Given the description of an element on the screen output the (x, y) to click on. 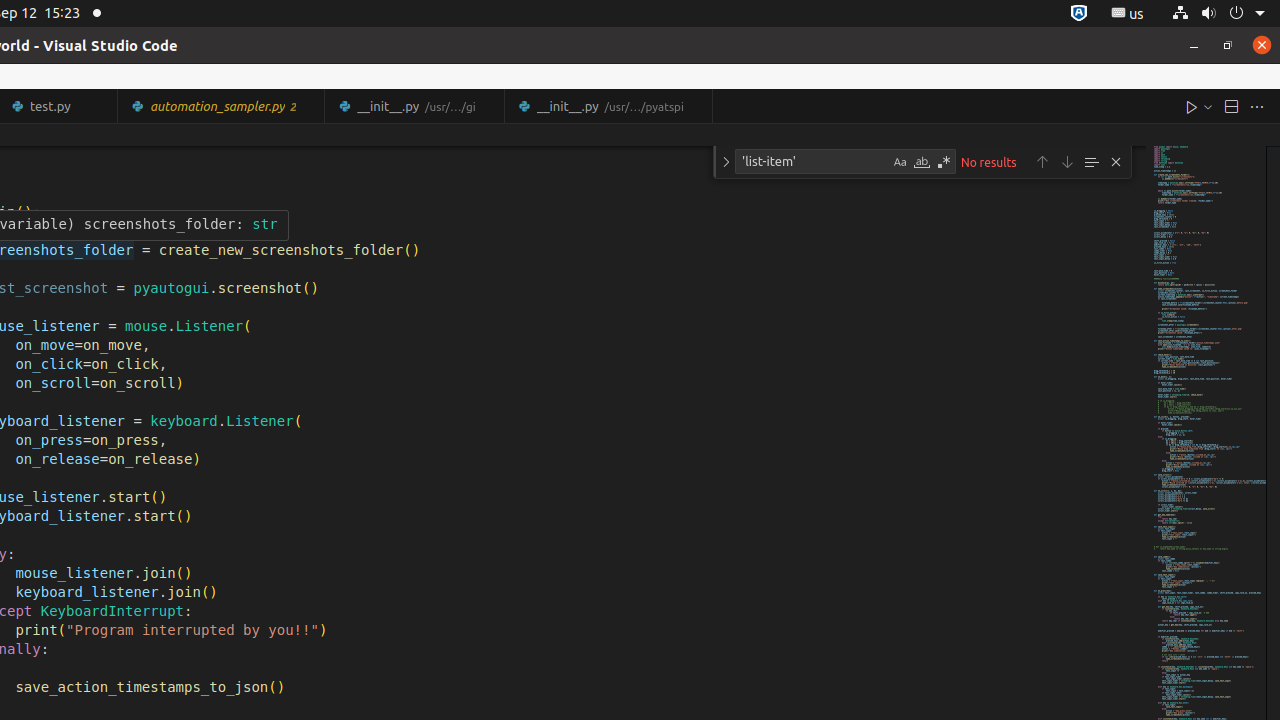
__init__.py Element type: page-tab (608, 106)
Close (Ctrl+W) Element type: push-button (697, 106)
Toggle Replace Element type: push-button (726, 162)
Match Case (Alt+C) Element type: check-box (900, 162)
